Given the description of an element on the screen output the (x, y) to click on. 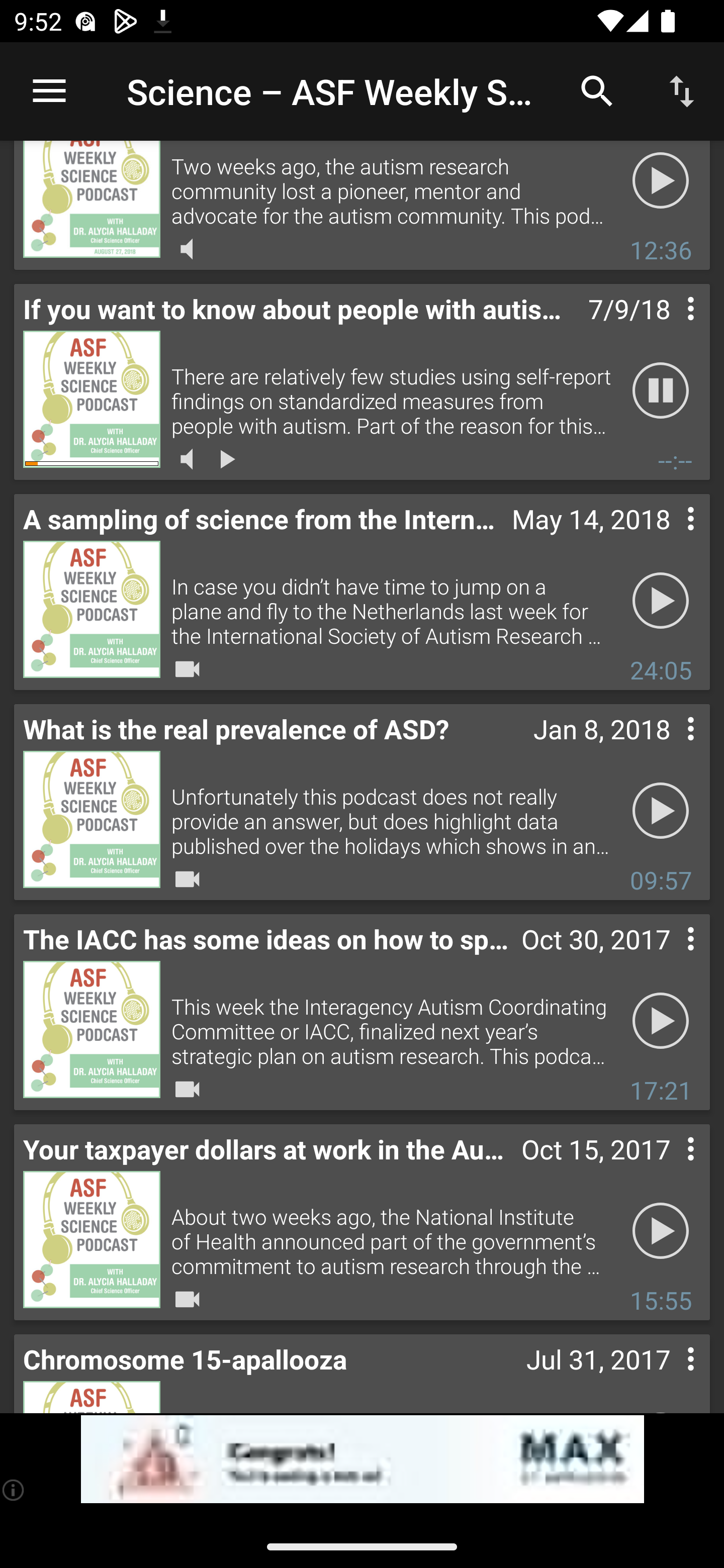
Open navigation sidebar (49, 91)
Search (597, 90)
Sort (681, 90)
Play (660, 184)
Contextual menu (668, 328)
Pause (660, 390)
Contextual menu (668, 538)
Play (660, 600)
Contextual menu (668, 748)
Play (660, 810)
Contextual menu (668, 958)
Play (660, 1020)
Contextual menu (668, 1168)
Play (660, 1230)
Contextual menu (668, 1374)
app-monetization (362, 1459)
(i) (14, 1489)
